Given the description of an element on the screen output the (x, y) to click on. 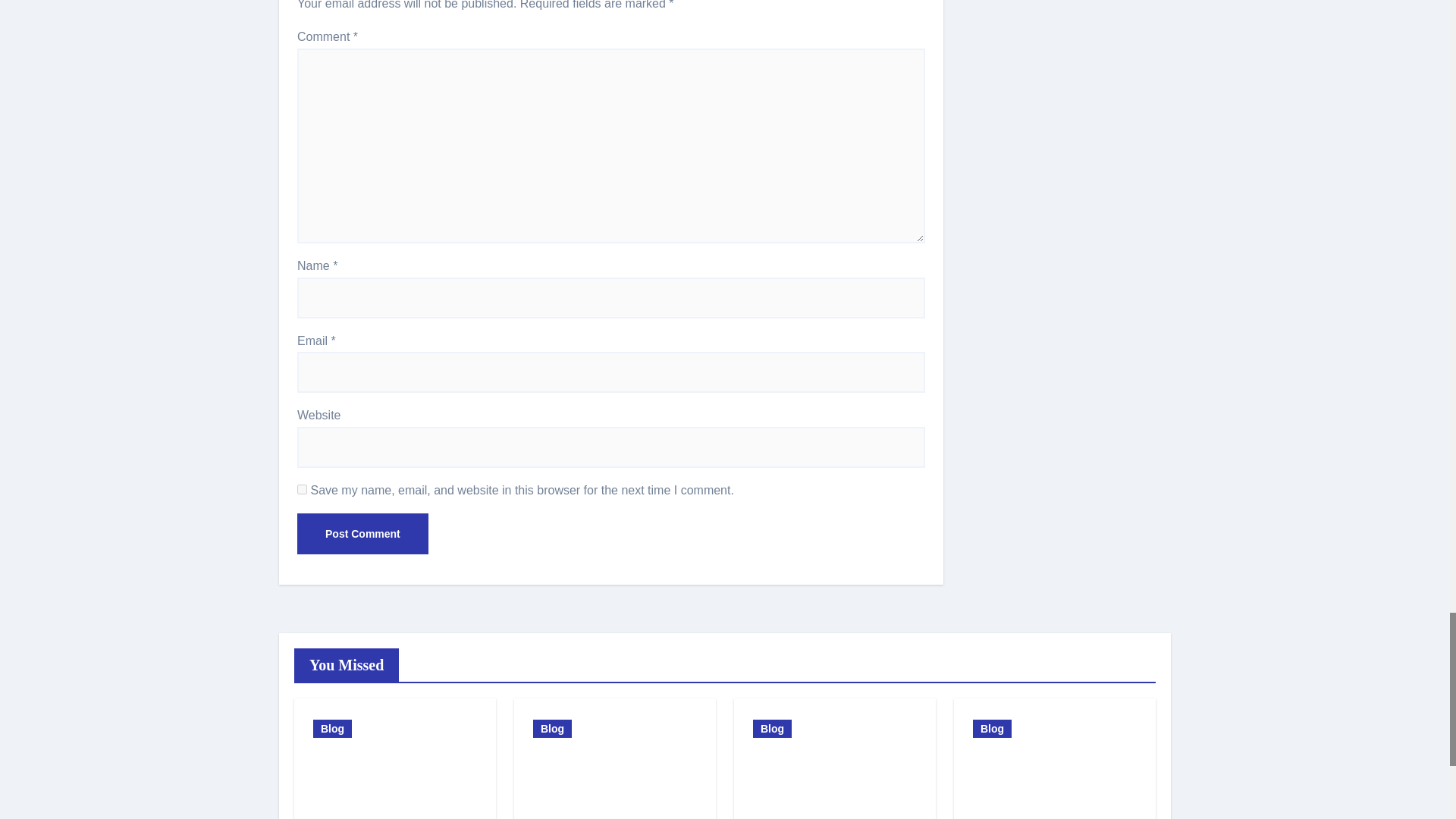
Post Comment (362, 533)
yes (302, 489)
